Given the description of an element on the screen output the (x, y) to click on. 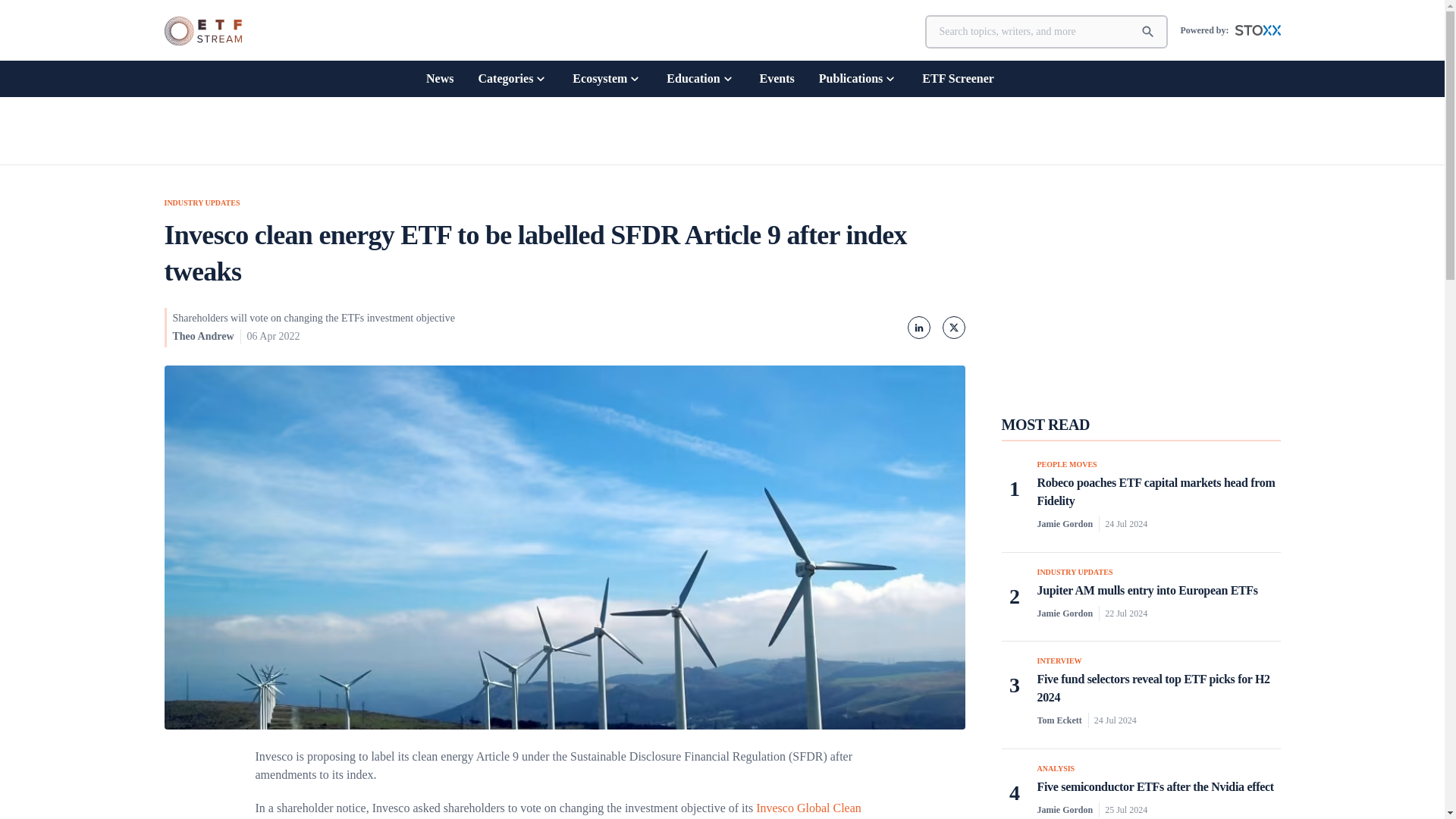
Theo Andrew (203, 336)
Education (700, 78)
Events (777, 78)
Invesco Global Clean Energy UCITS ETF (557, 810)
ETF Screener (957, 78)
News (439, 78)
